Given the description of an element on the screen output the (x, y) to click on. 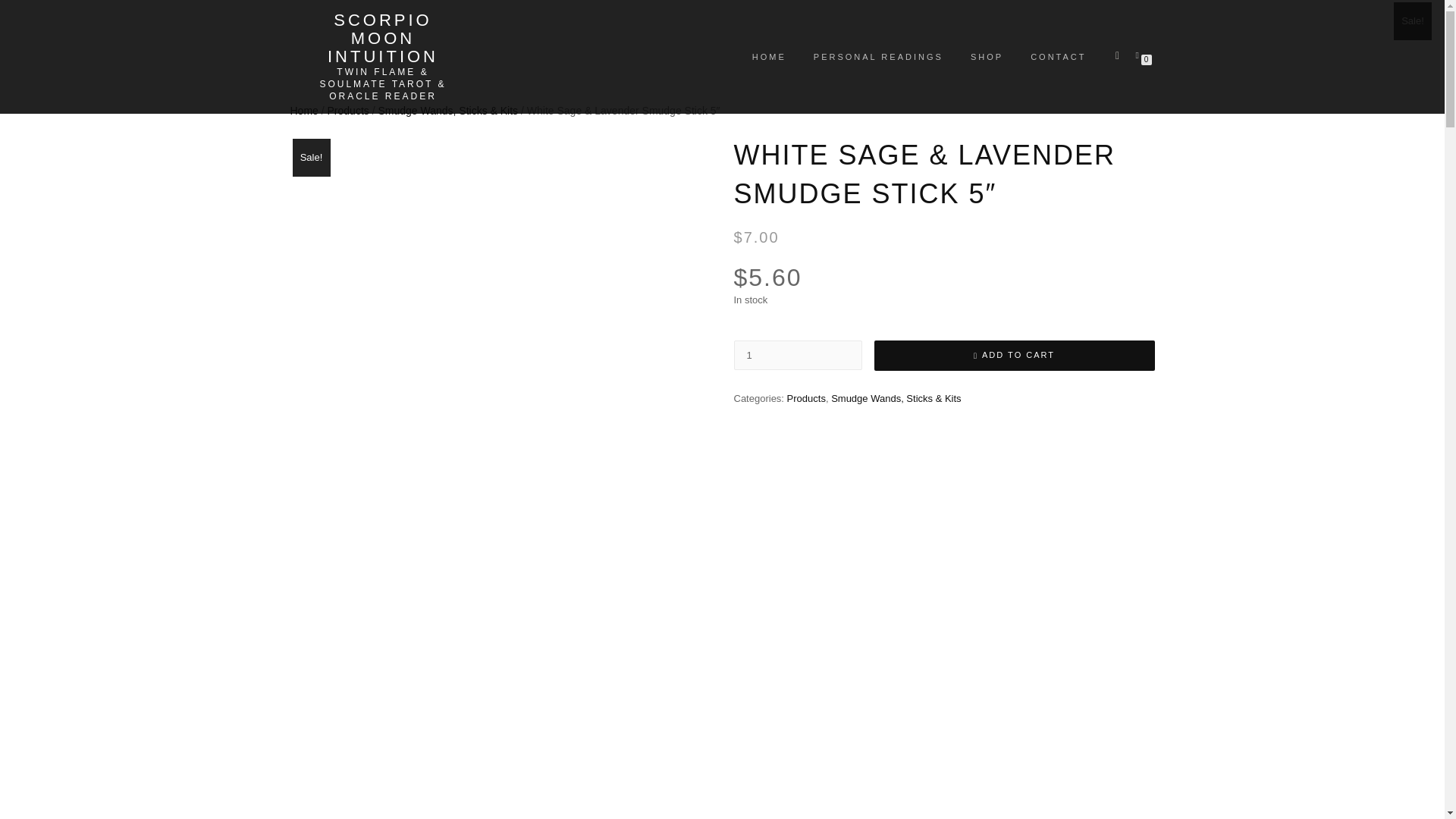
ADD TO CART (1013, 355)
Scorpio Moon Intuition (382, 38)
SCORPIO MOON INTUITION (382, 38)
View your shopping cart (1139, 53)
Products (806, 398)
PERSONAL READINGS (878, 56)
Home (303, 110)
CONTACT (1058, 56)
HOME (769, 56)
0 (1139, 53)
